Given the description of an element on the screen output the (x, y) to click on. 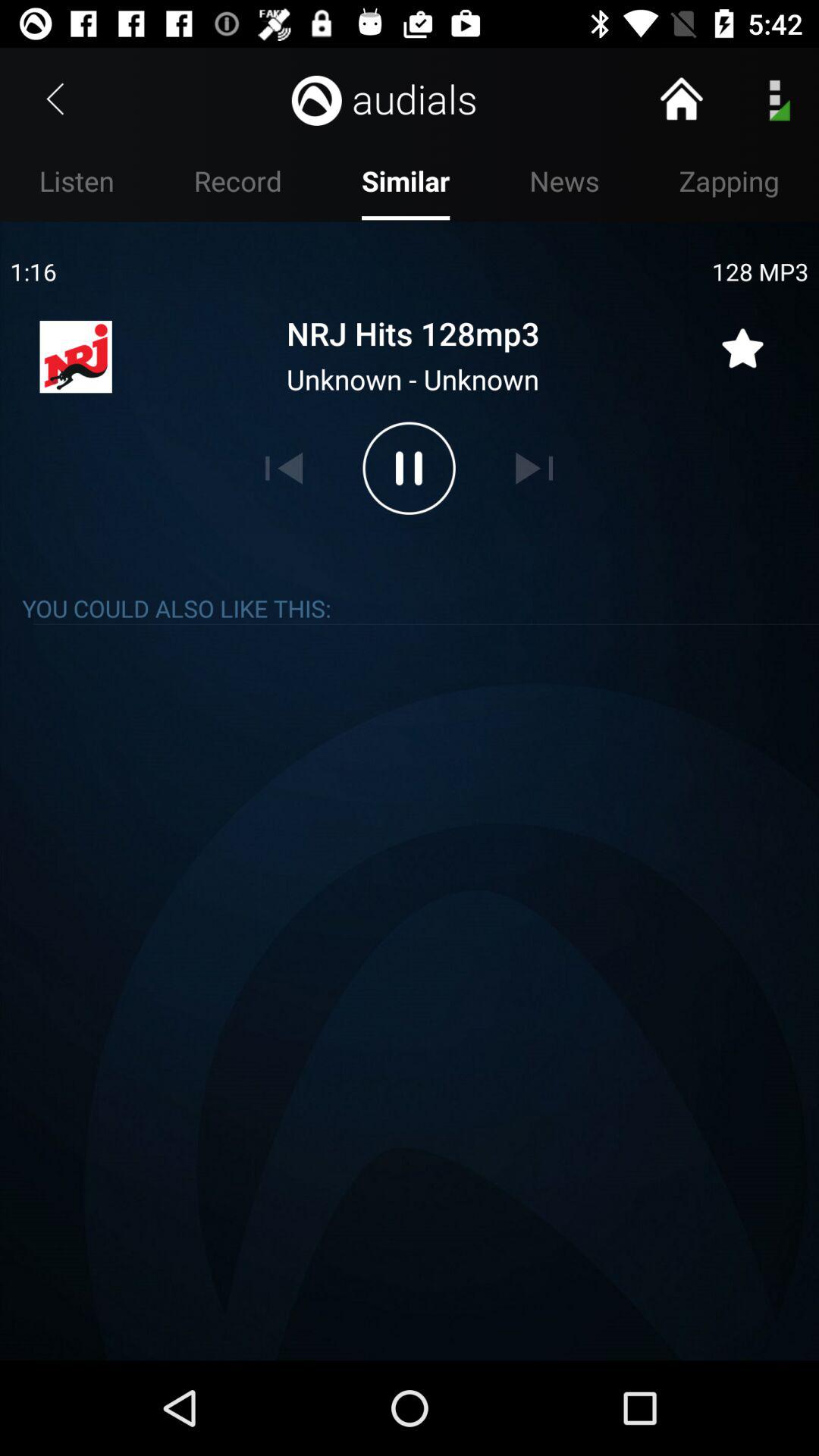
go to next song (534, 468)
